Given the description of an element on the screen output the (x, y) to click on. 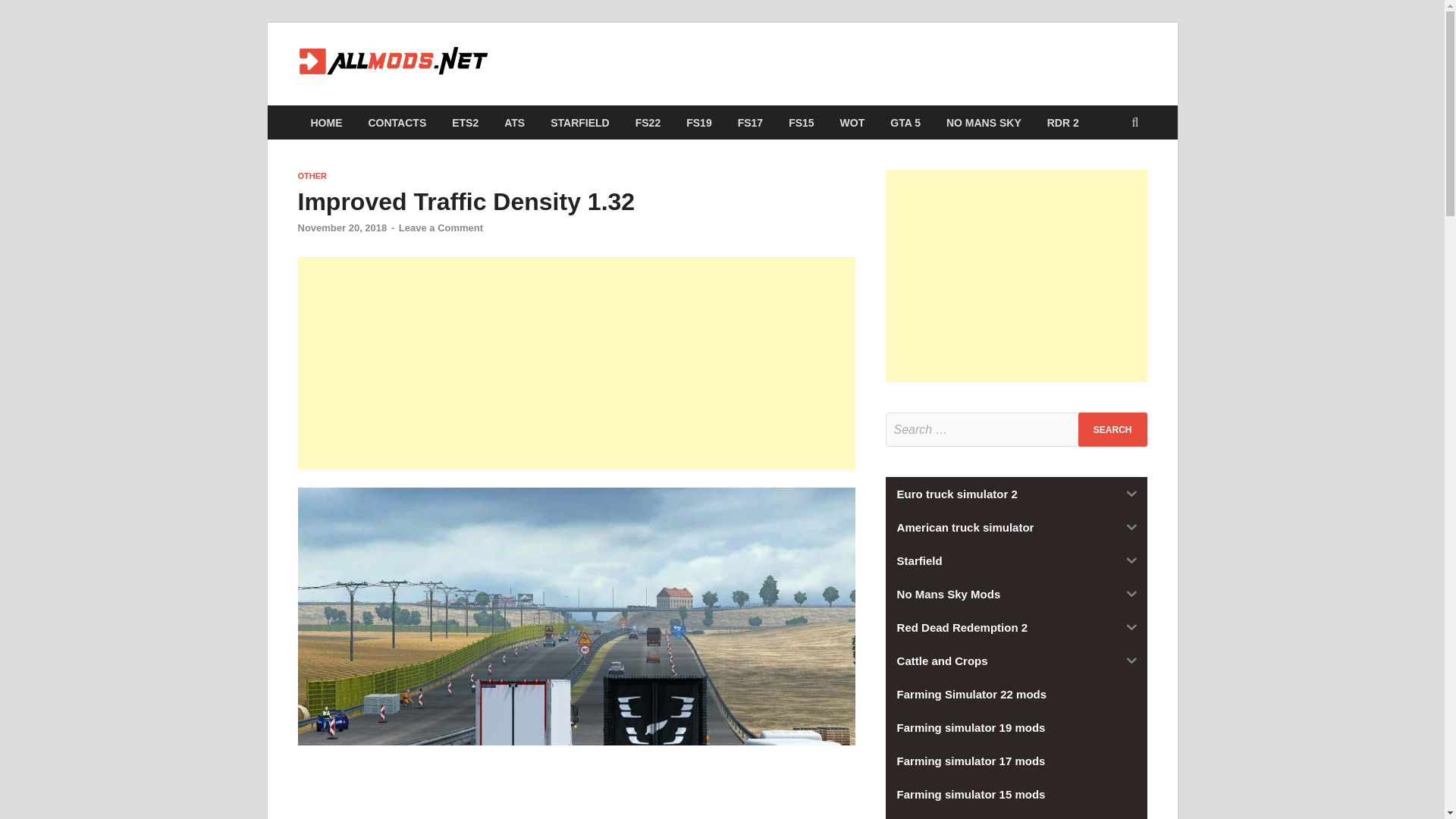
RDR 2 (1062, 122)
FS19 (697, 122)
FS22 (647, 122)
Search (1112, 429)
OTHER (311, 175)
ATS (514, 122)
FS15 (801, 122)
November 20, 2018 (342, 227)
NO MANS SKY (983, 122)
GTA 5 (905, 122)
